Given the description of an element on the screen output the (x, y) to click on. 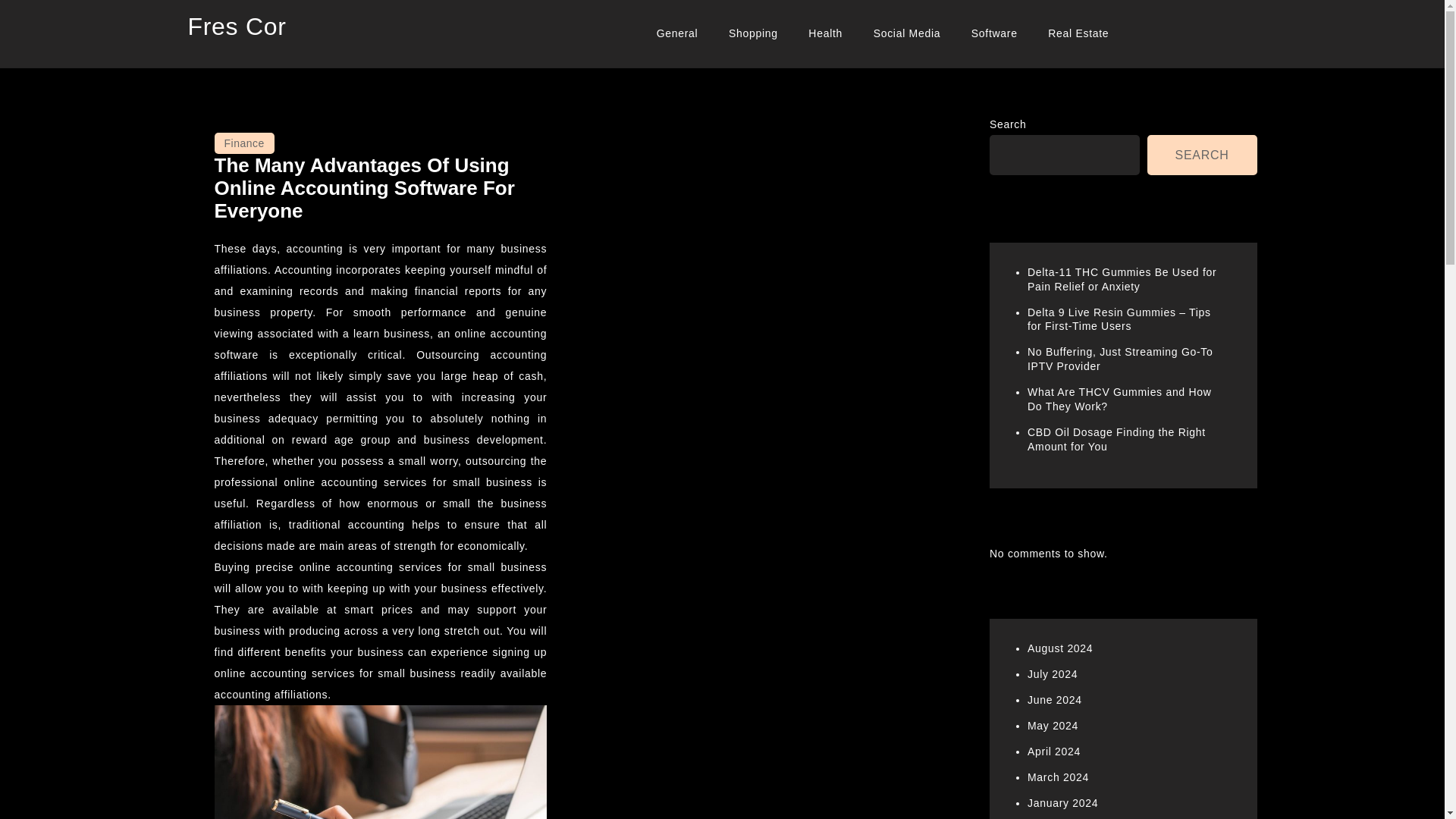
Shopping (753, 33)
March 2024 (1058, 776)
Delta-11 THC Gummies Be Used for Pain Relief or Anxiety (1121, 279)
General (677, 33)
CBD Oil Dosage Finding the Right Amount for You (1116, 438)
Fres Cor (236, 26)
August 2024 (1060, 648)
July 2024 (1052, 674)
Real Estate (1077, 33)
